Given the description of an element on the screen output the (x, y) to click on. 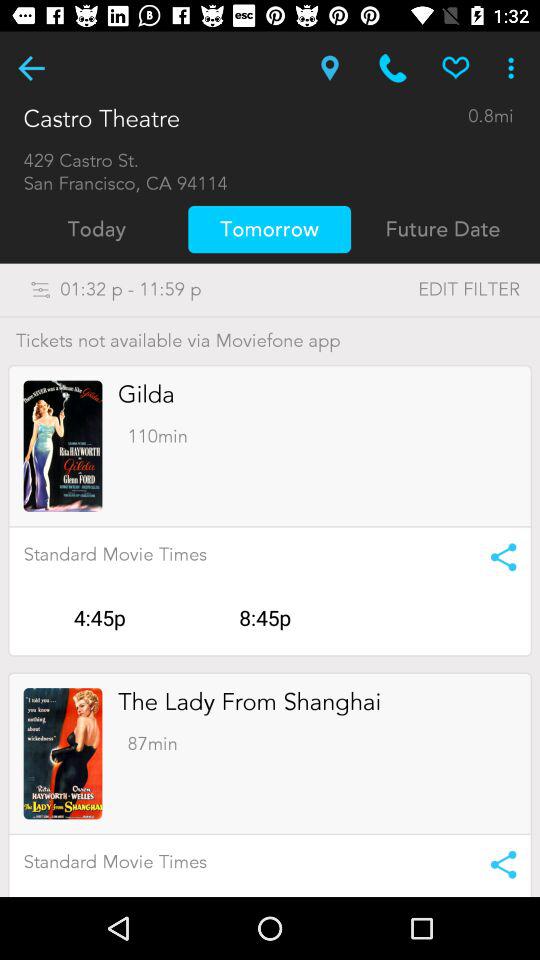
share info (496, 864)
